Given the description of an element on the screen output the (x, y) to click on. 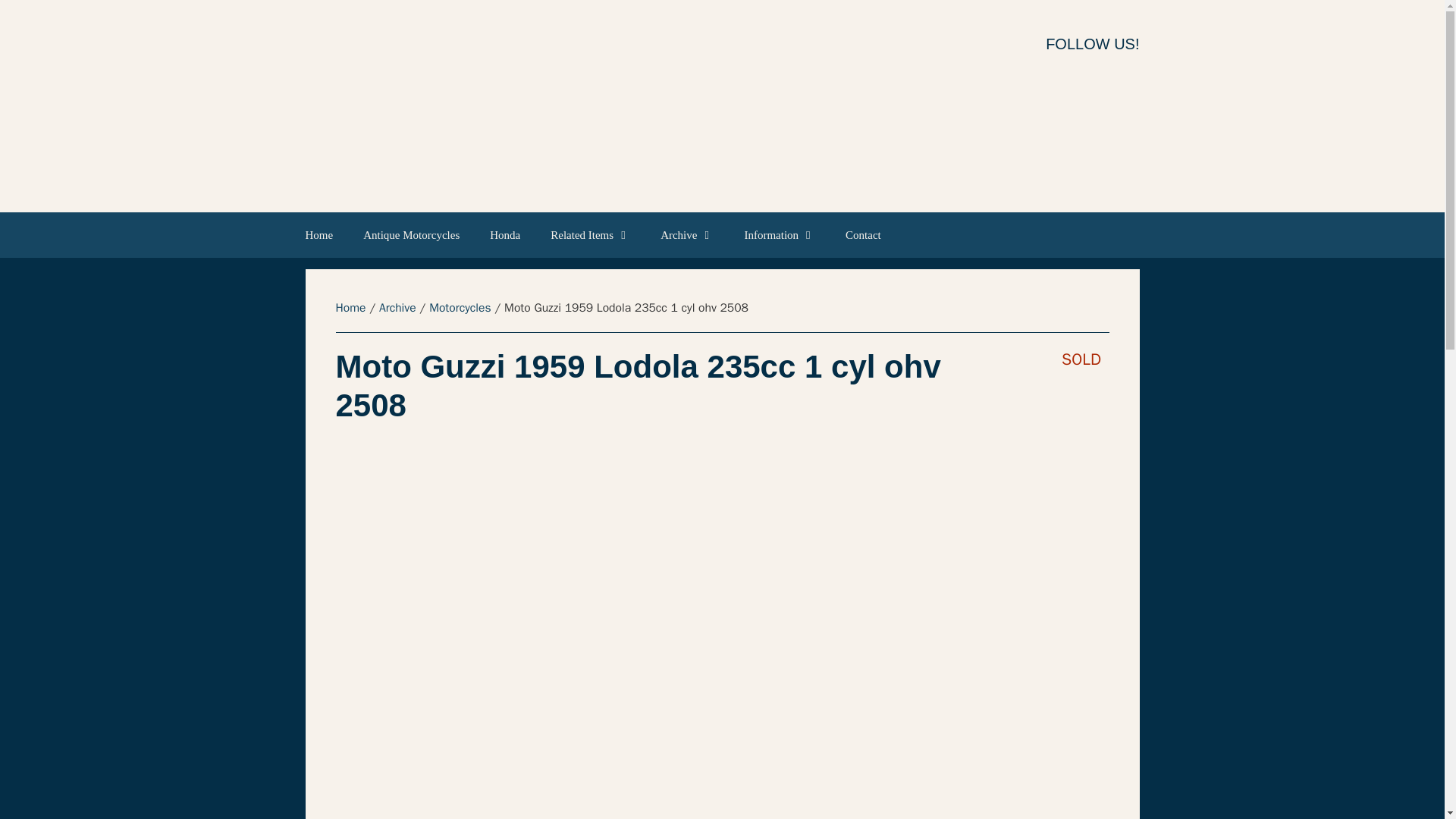
Contact (862, 234)
Yesterdays (675, 106)
Honda (504, 234)
Archive (687, 234)
Archive (397, 307)
Yesterdays (675, 105)
Home (325, 234)
Related Items (590, 234)
Home (349, 307)
